Given the description of an element on the screen output the (x, y) to click on. 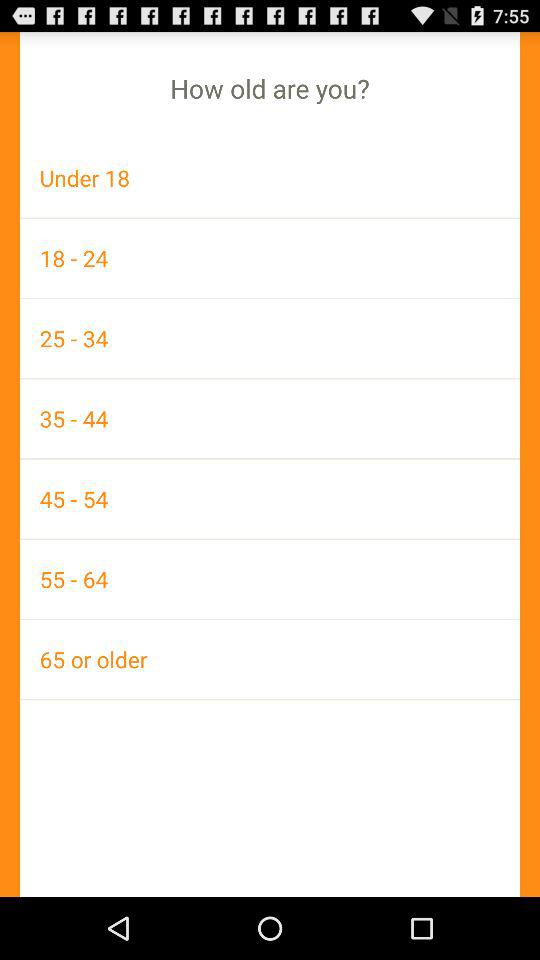
turn off the 45 - 54 (269, 498)
